Given the description of an element on the screen output the (x, y) to click on. 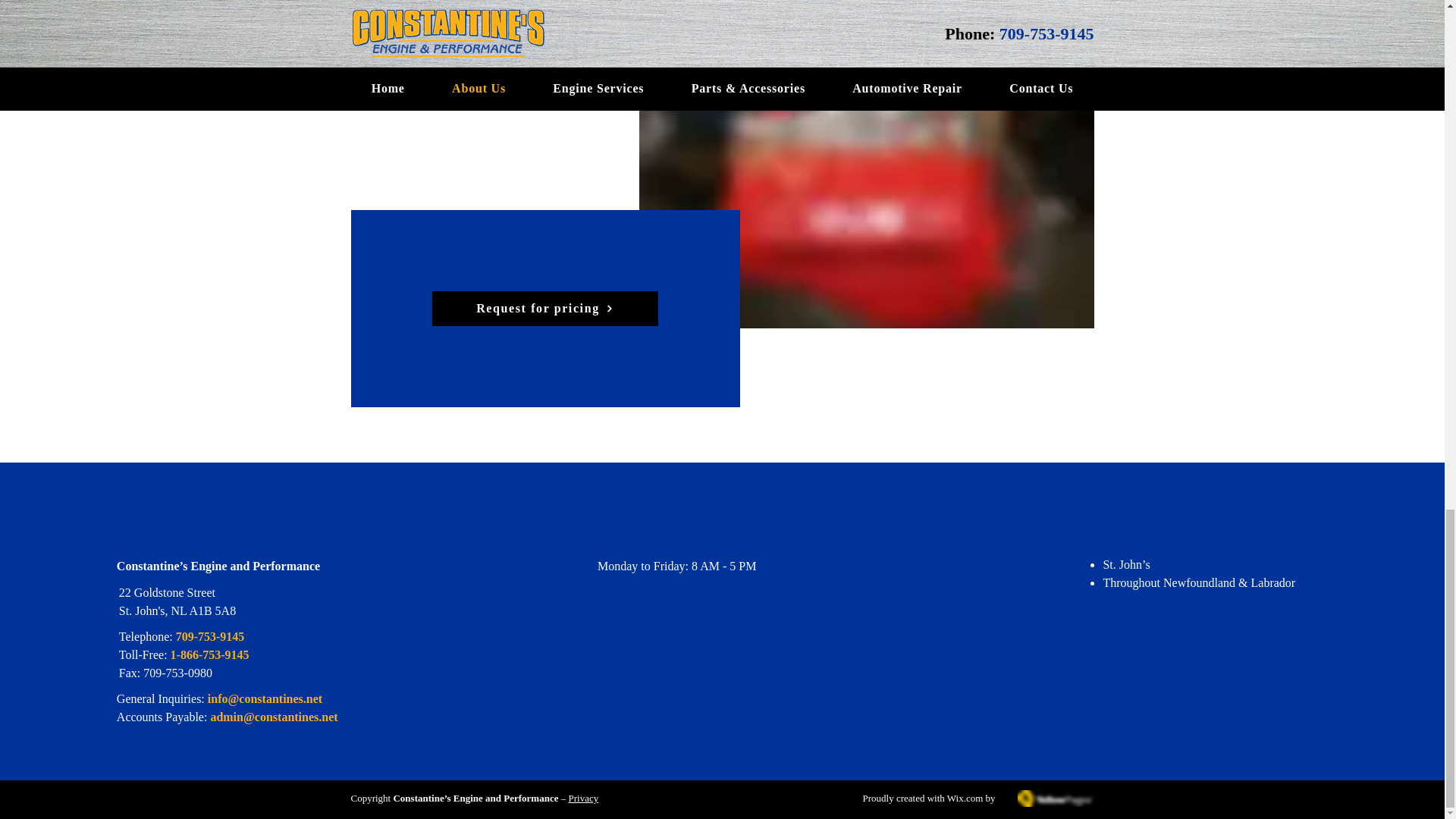
709-753-9145 (210, 635)
Privacy (582, 797)
1-866-753-9145 (209, 654)
Request for pricing (545, 308)
